Given the description of an element on the screen output the (x, y) to click on. 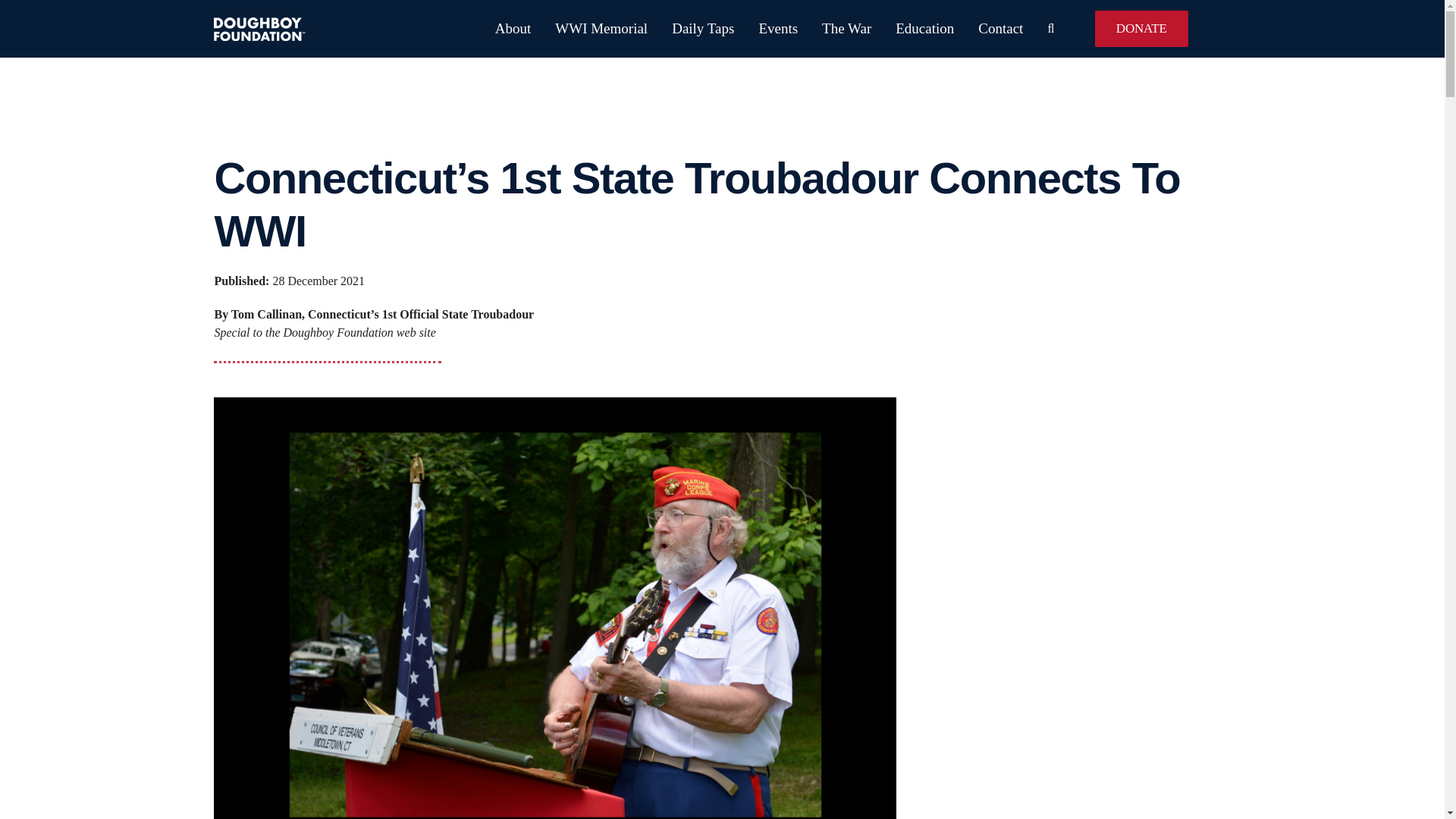
Events (765, 29)
Education (911, 29)
Contact (988, 29)
WWI Memorial (589, 29)
About (500, 29)
doughboy-logo-white-31h (259, 28)
Daily Taps (690, 29)
The War (833, 29)
